Given the description of an element on the screen output the (x, y) to click on. 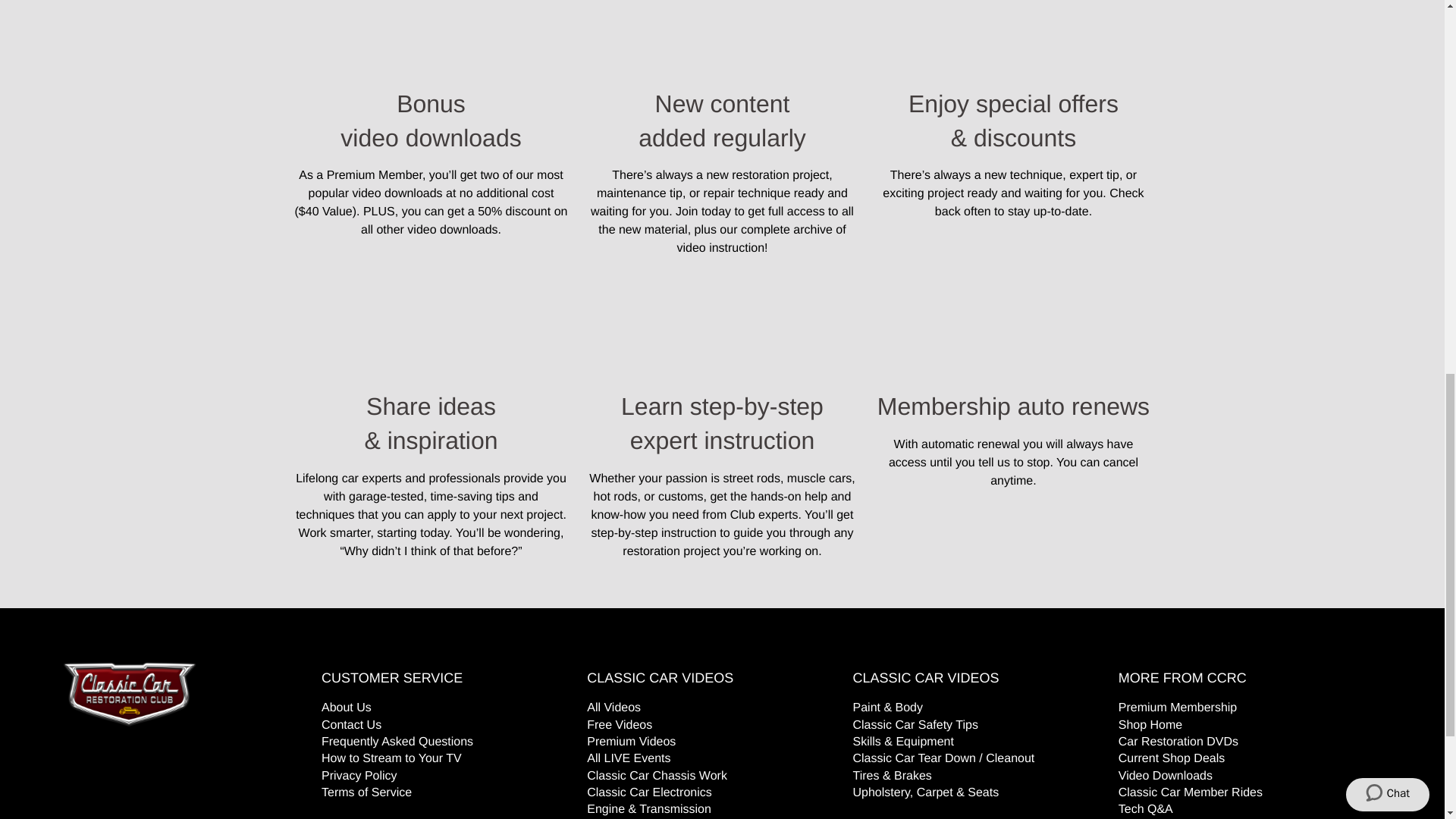
Contact Us (351, 725)
All Videos (613, 707)
Free Videos (619, 725)
All LIVE Events (627, 758)
Shop Home (1150, 725)
Premium Videos (630, 741)
Frequently Asked Questions (397, 741)
About Us (346, 707)
Premium Membership (1177, 707)
How to Stream to Your TV (391, 758)
